Given the description of an element on the screen output the (x, y) to click on. 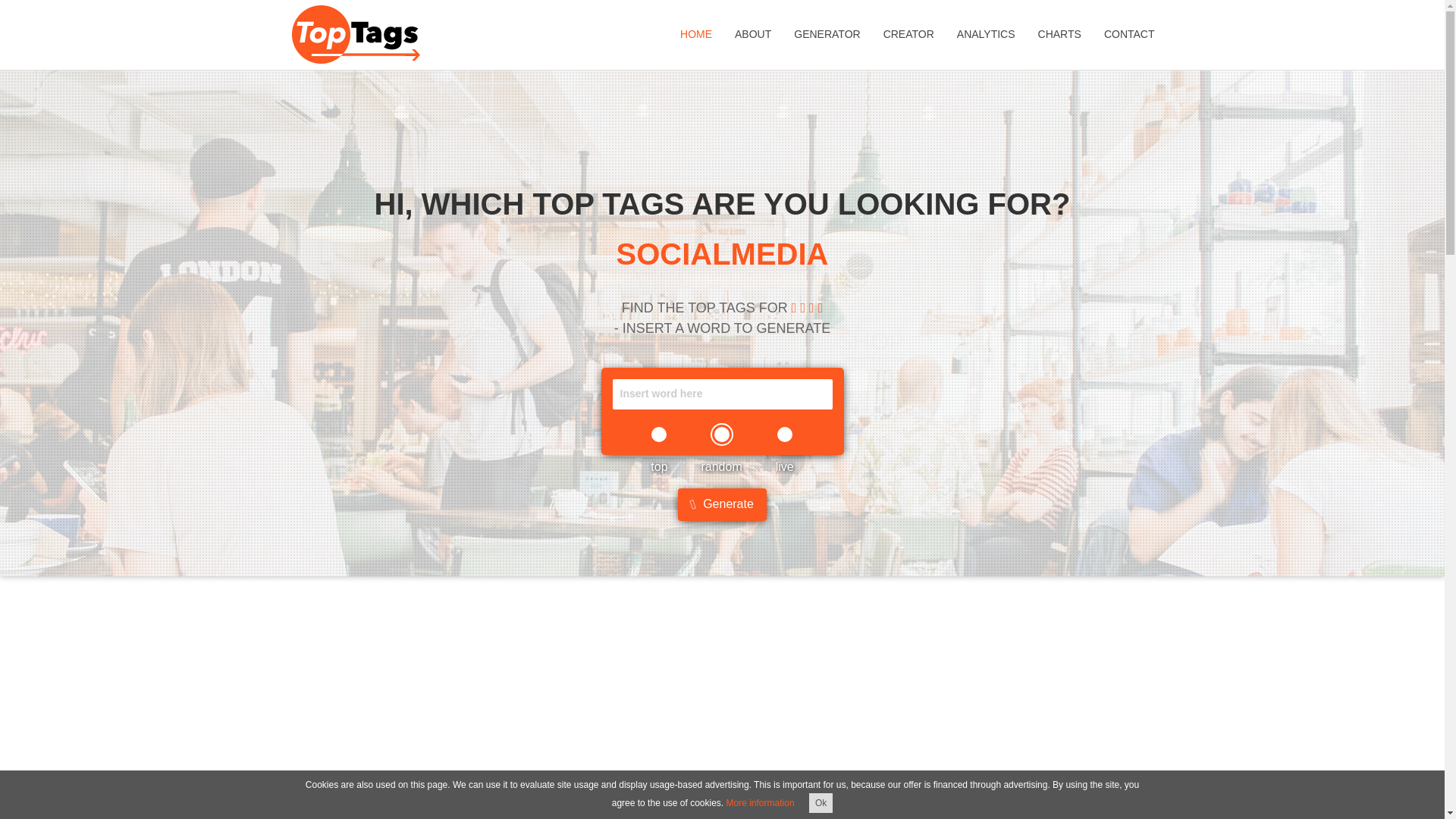
CHARTS (1059, 34)
ANALYTICS (985, 34)
CONTACT (1129, 34)
GENERATOR (826, 34)
Advertisement (721, 128)
ABOUT (753, 34)
HOME (695, 34)
CREATOR (908, 34)
Generate (722, 520)
